Given the description of an element on the screen output the (x, y) to click on. 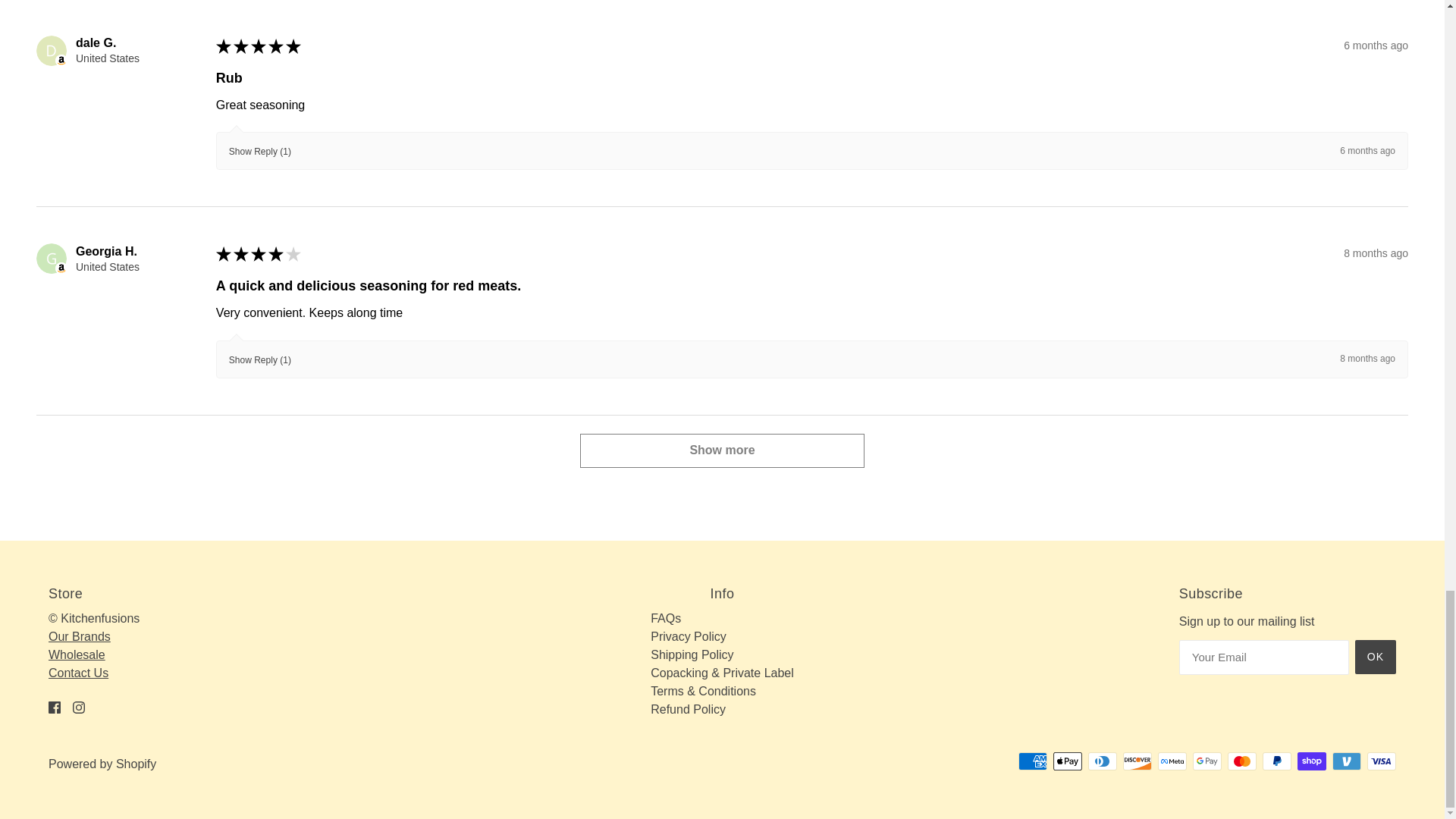
Contact (77, 672)
Shipping Policy (691, 654)
Our Brands (79, 635)
Refund Policy (687, 708)
Wholesale (76, 654)
FAQs (665, 617)
Privacy Policy (688, 635)
